Given the description of an element on the screen output the (x, y) to click on. 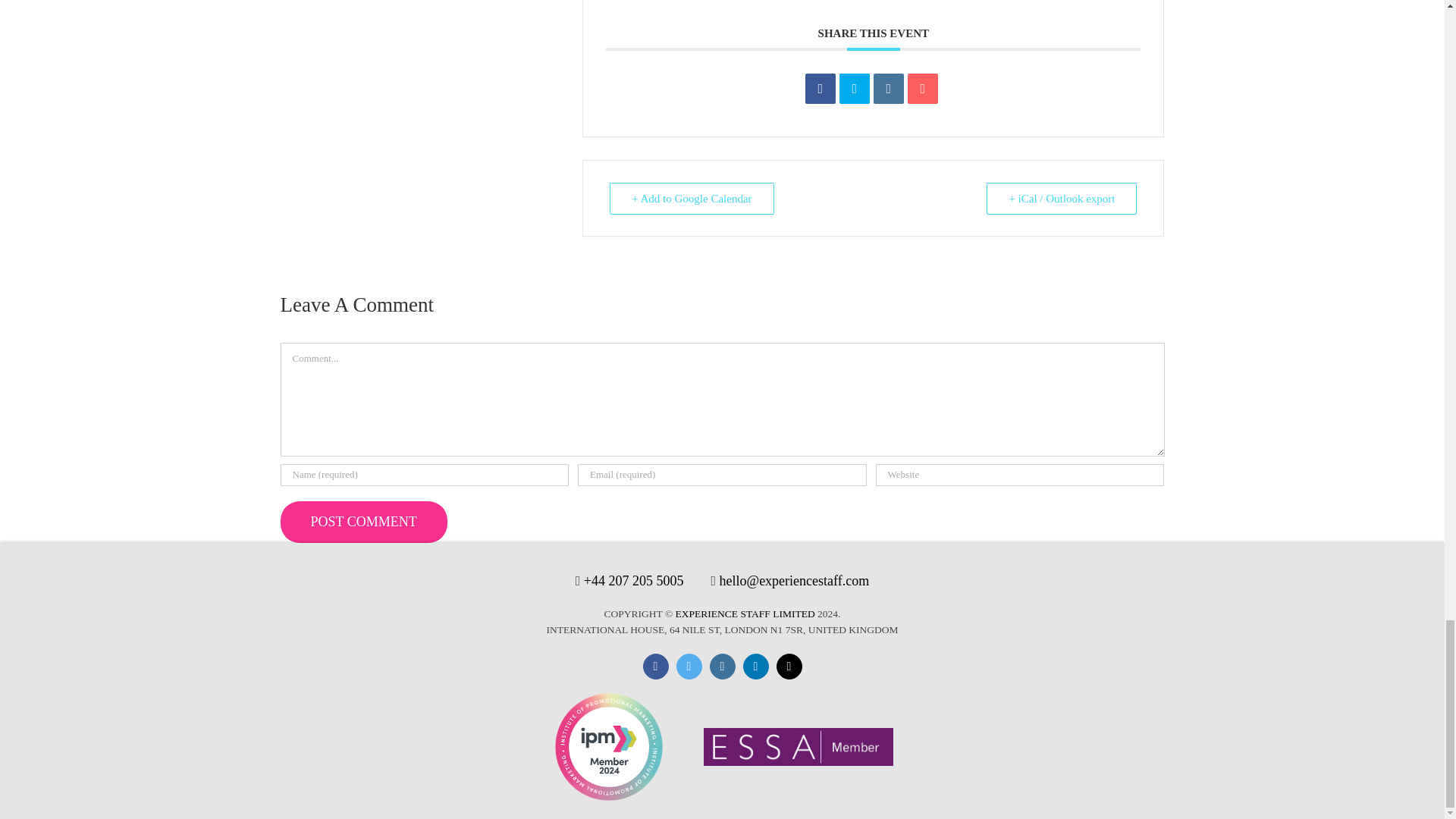
Email (922, 88)
Facebook (655, 666)
Linkedin (888, 88)
Share on Facebook (820, 88)
Tweet (854, 88)
Post Comment (363, 521)
